Given the description of an element on the screen output the (x, y) to click on. 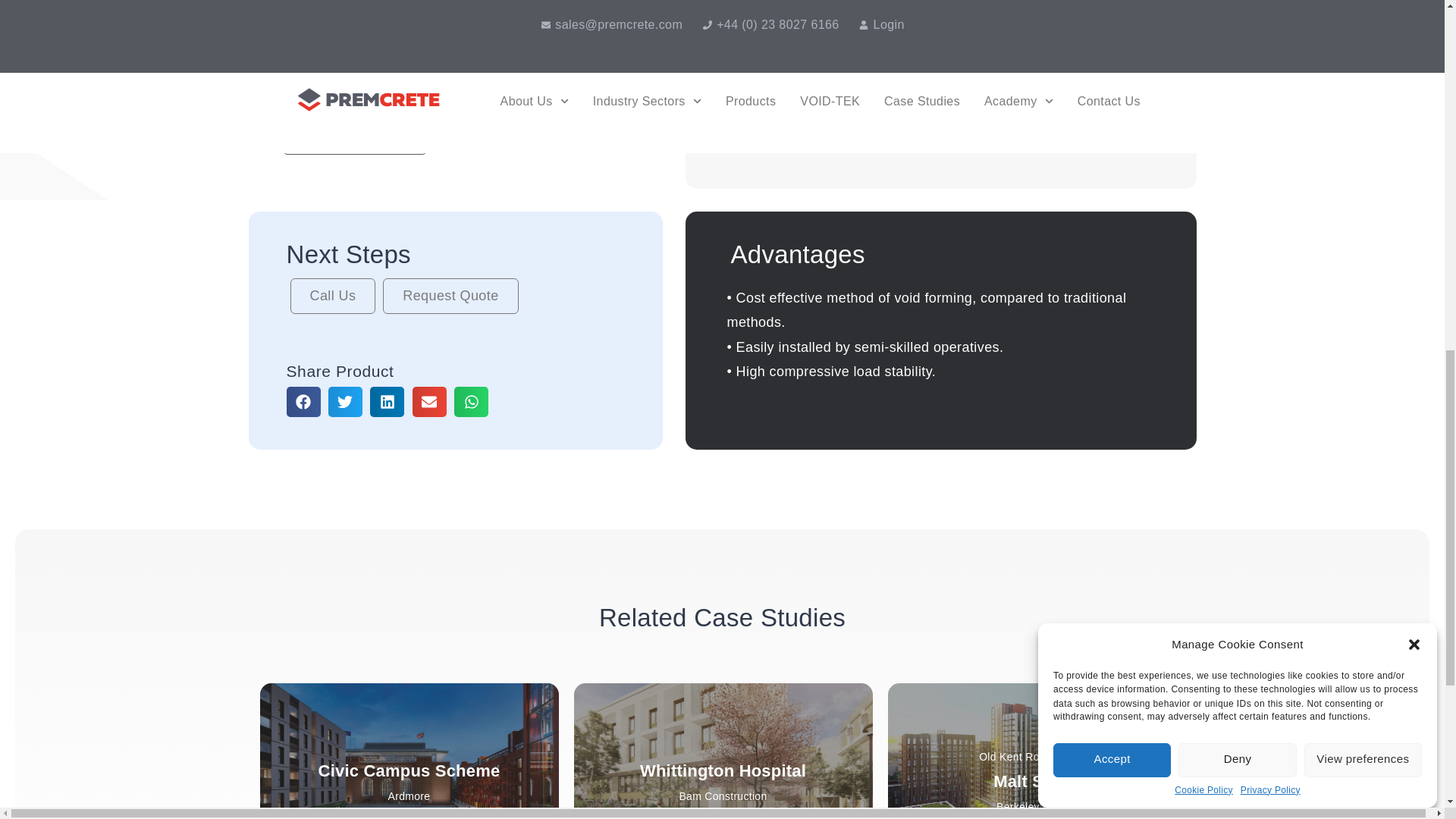
Privacy Policy (1270, 51)
View preferences (1363, 80)
Deny (1236, 102)
Cookie Policy (1203, 59)
Accept (1111, 126)
